Given the description of an element on the screen output the (x, y) to click on. 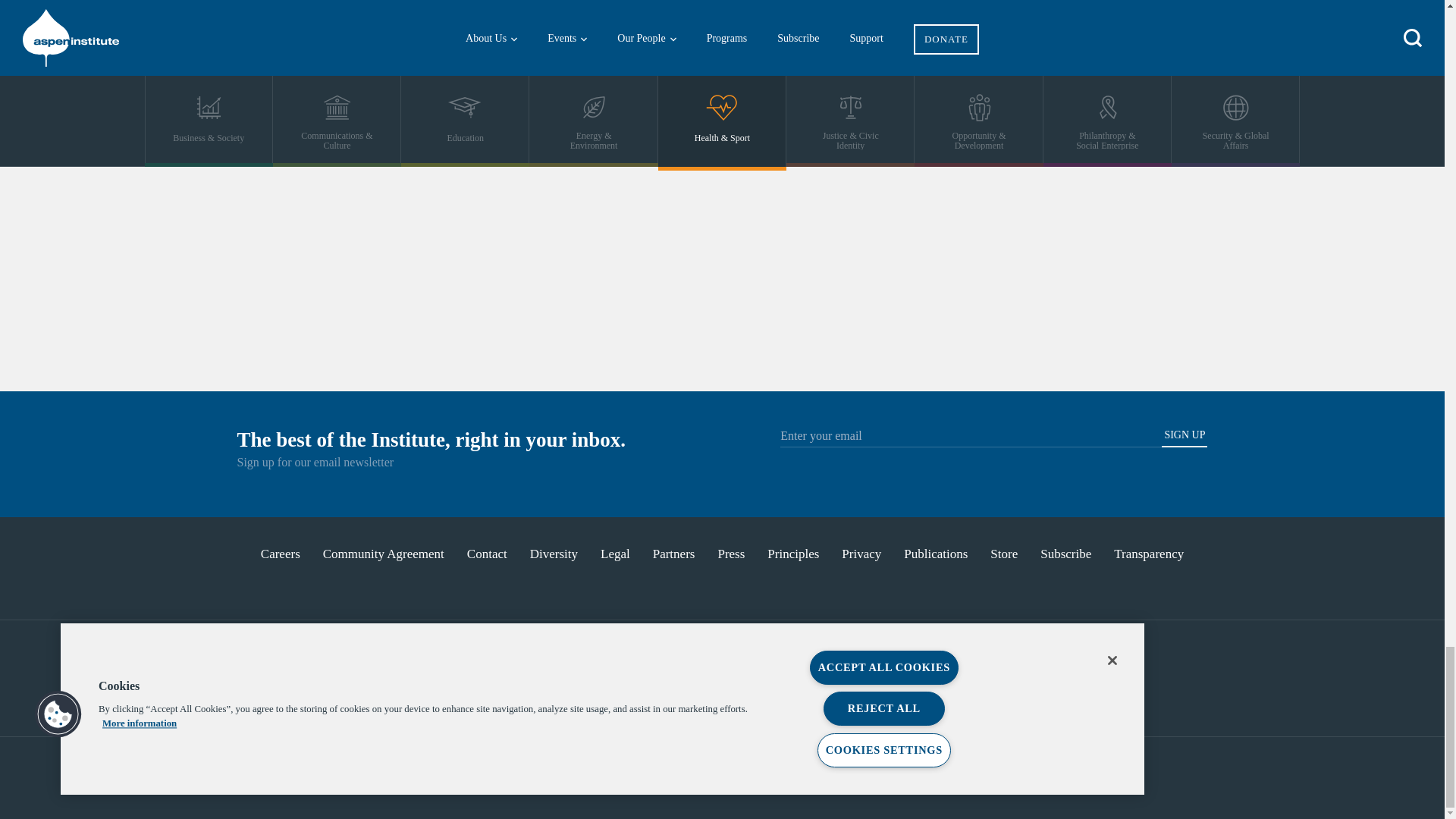
SIGN UP (1184, 438)
